Given the description of an element on the screen output the (x, y) to click on. 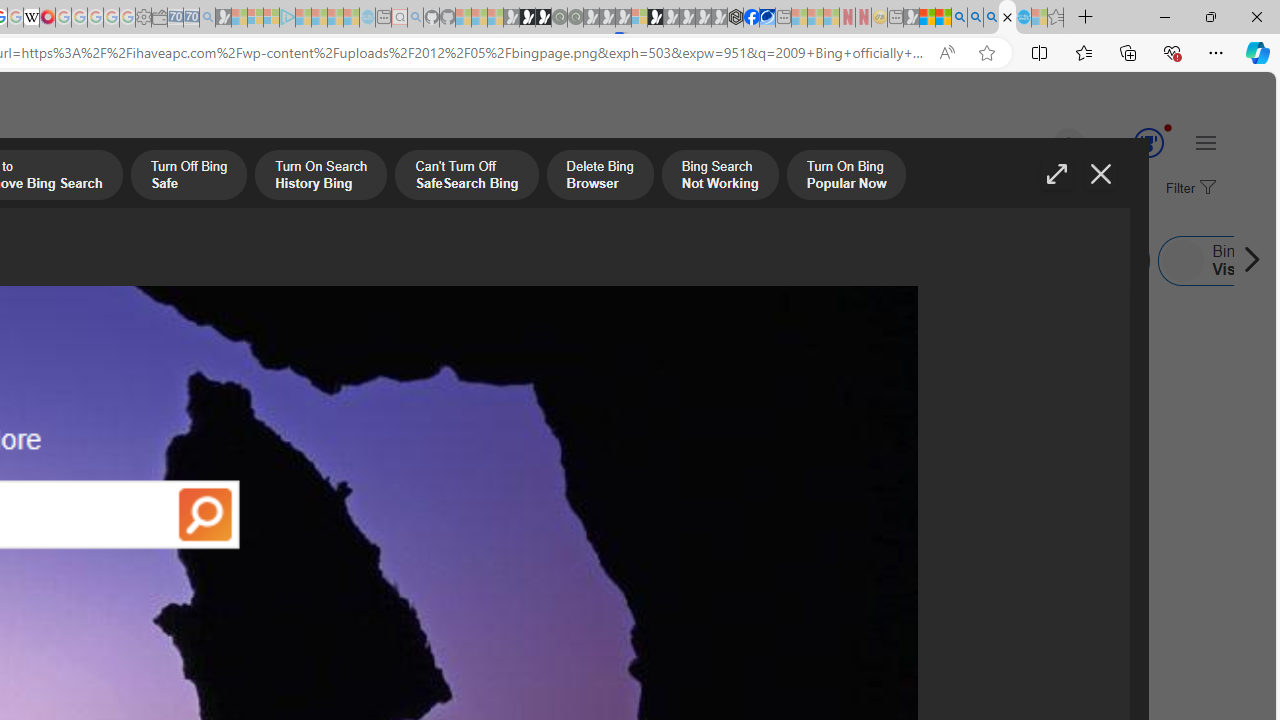
Scroll right (1246, 260)
Bing Logo, symbol, meaning, history, PNG, brandSave (694, 417)
Turn On Search History Bing (319, 177)
Bing Image Search Similar Images (416, 260)
AutomationID: rh_meter (1148, 142)
Nordace - Cooler Bags (735, 17)
Sign in to your account - Sleeping (639, 17)
